Given the description of an element on the screen output the (x, y) to click on. 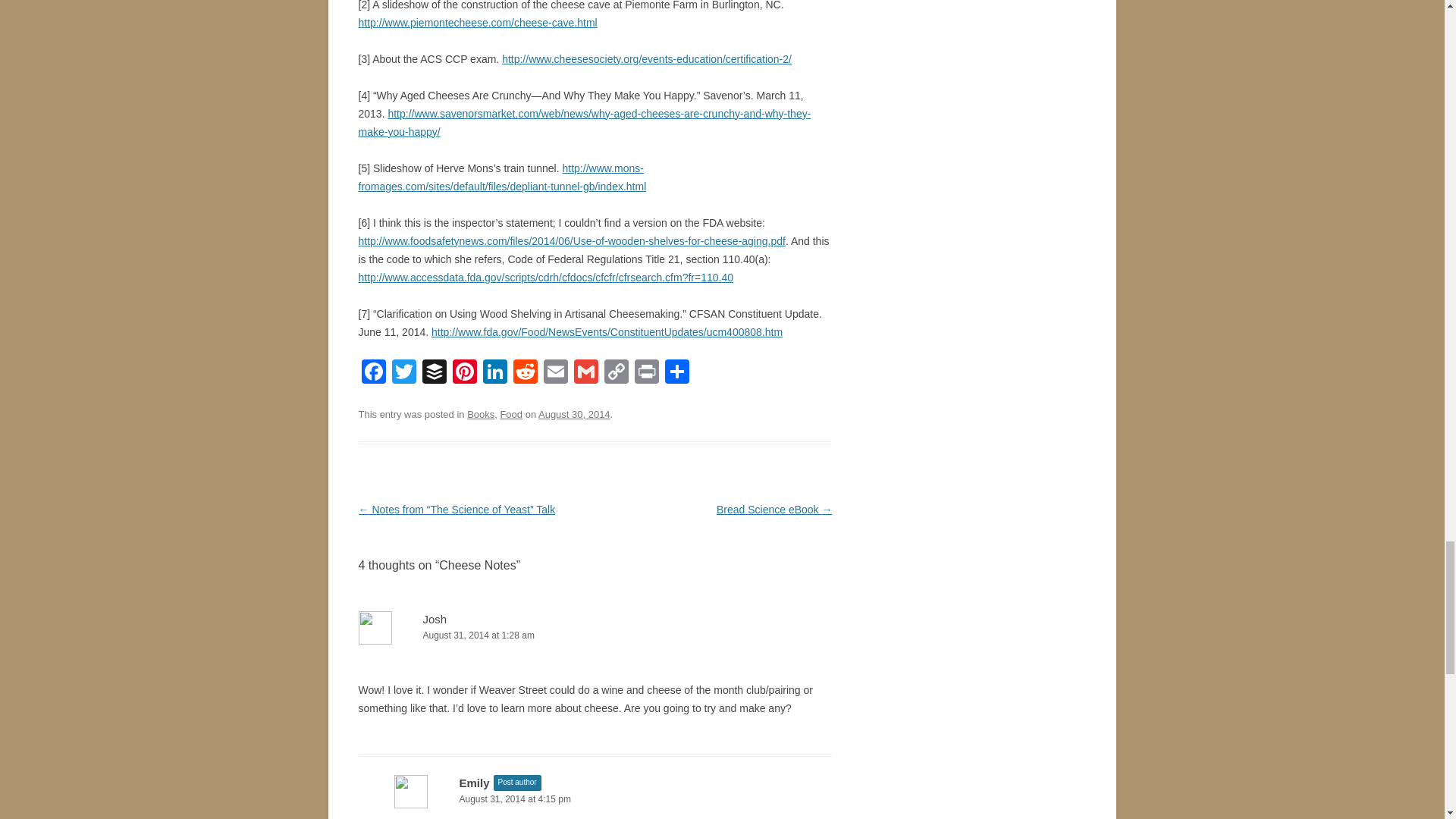
Print (645, 373)
cheese cave construction (477, 22)
LinkedIn (494, 373)
Reddit (524, 373)
Pinterest (463, 373)
Facebook (373, 373)
Twitter (403, 373)
ACS CCP exam (647, 59)
aged cheese and happiness (584, 122)
Buffer (433, 373)
Email (555, 373)
Gmail (584, 373)
Books (481, 413)
Food (510, 413)
Copy Link (614, 373)
